Given the description of an element on the screen output the (x, y) to click on. 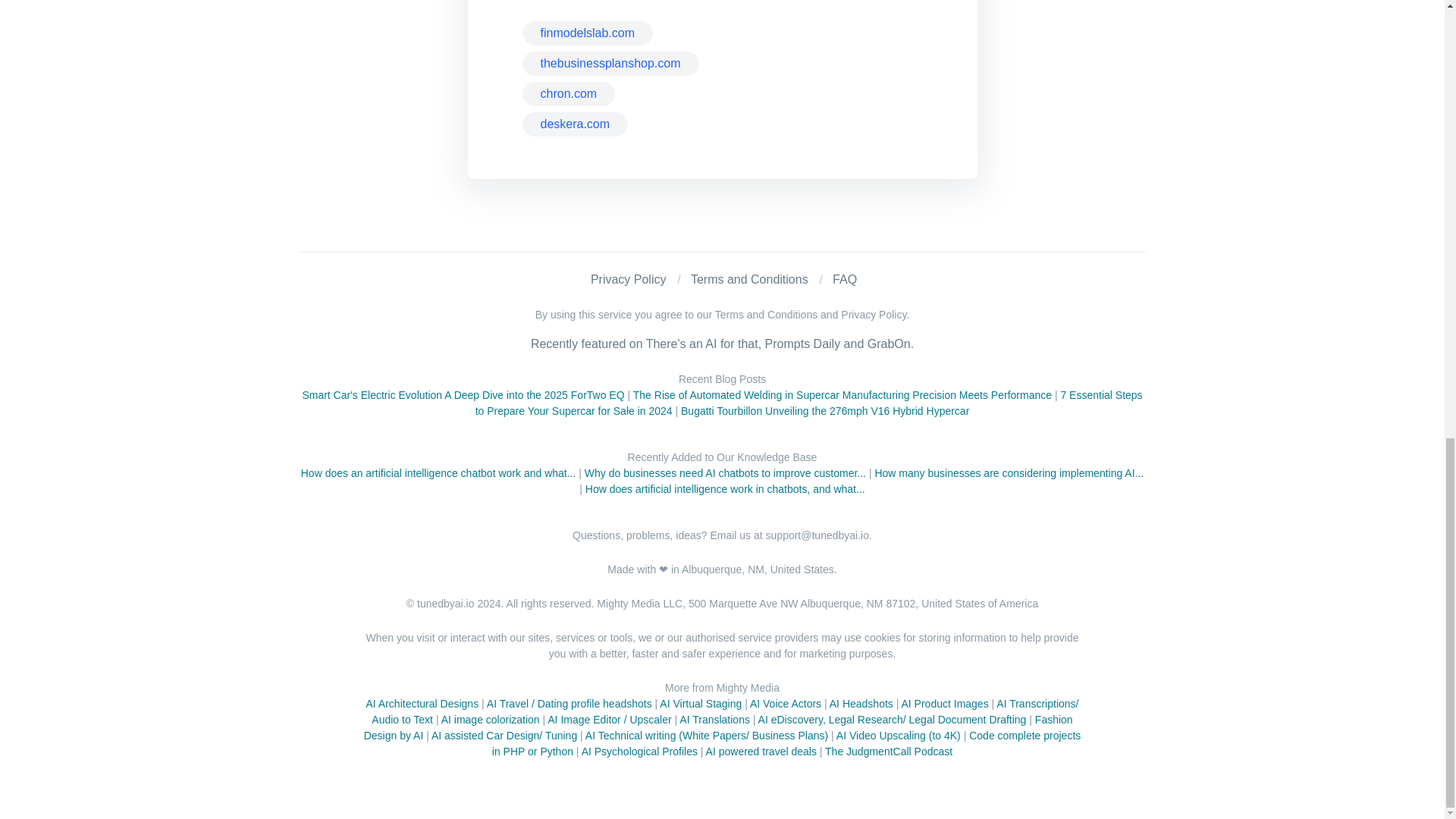
finmodelslab.com (586, 33)
thebusinessplanshop.com (609, 63)
AI Voice Actors (785, 703)
AI Headshots (861, 703)
Bugatti Tourbillon Unveiling the 276mph V16 Hybrid Hypercar (825, 410)
Code complete projects in PHP or Python (786, 743)
AI Product Images (944, 703)
AI Architectural Designs (422, 703)
Fashion Design by AI (718, 727)
How does an artificial intelligence chatbot work and what... (438, 472)
Why do businesses need AI chatbots to improve customer... (725, 472)
AI image colorization (490, 719)
FAQ (844, 278)
